Given the description of an element on the screen output the (x, y) to click on. 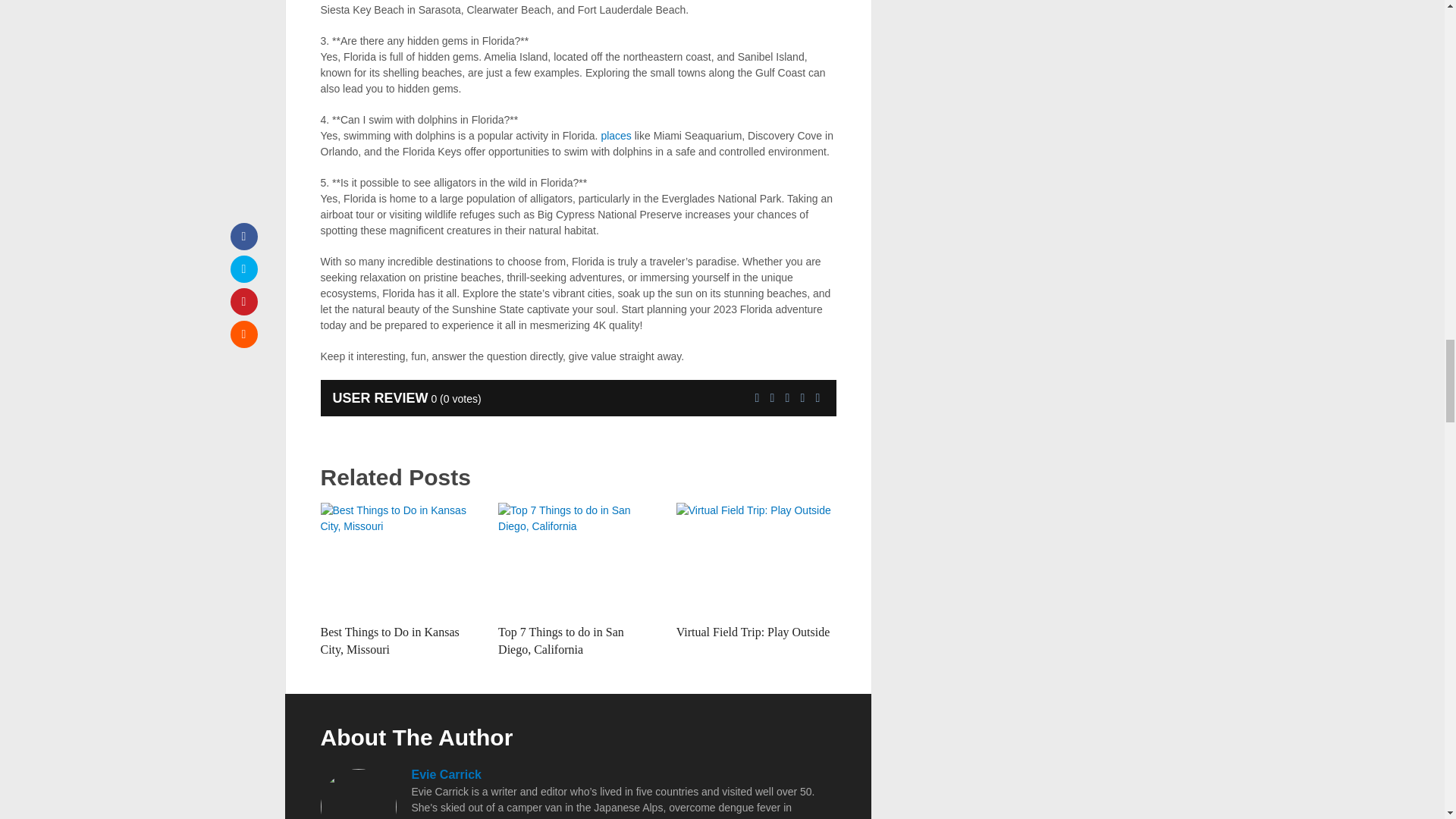
Best Things to Do in Kansas City, Missouri (400, 559)
